Given the description of an element on the screen output the (x, y) to click on. 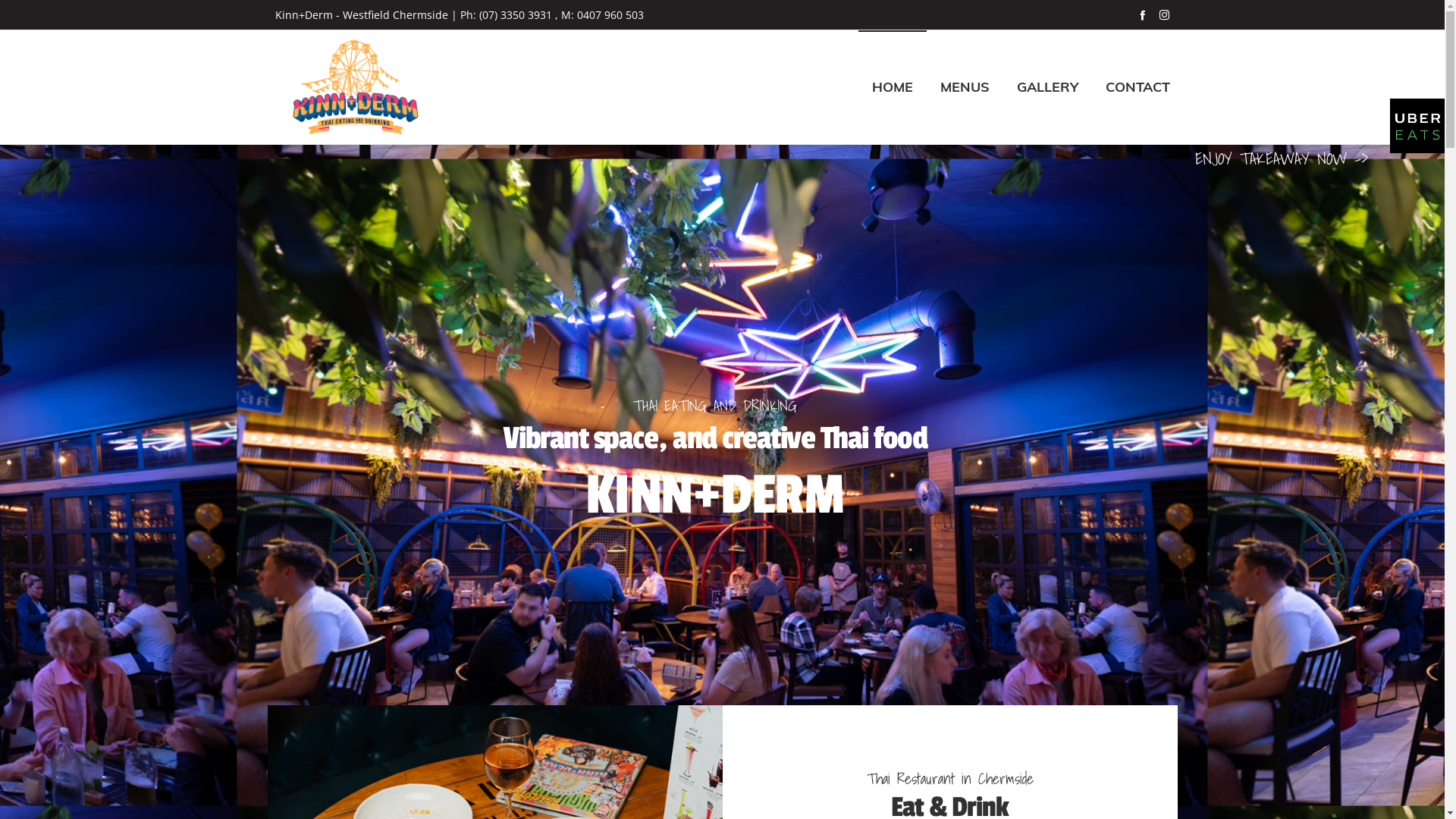
Kinn+Derm Element type: hover (355, 87)
MENUS Element type: text (964, 87)
Instagram Element type: hover (1163, 14)
CONTACT Element type: text (1137, 87)
HOME Element type: text (892, 87)
GALLERY Element type: text (1046, 87)
Kinn+Derm Element type: hover (418, 706)
HOME Element type: text (896, 630)
Facebook Element type: hover (1142, 14)
MENUS Element type: text (898, 660)
CONTACT Element type: text (906, 718)
GALLERY Element type: text (903, 690)
